Given the description of an element on the screen output the (x, y) to click on. 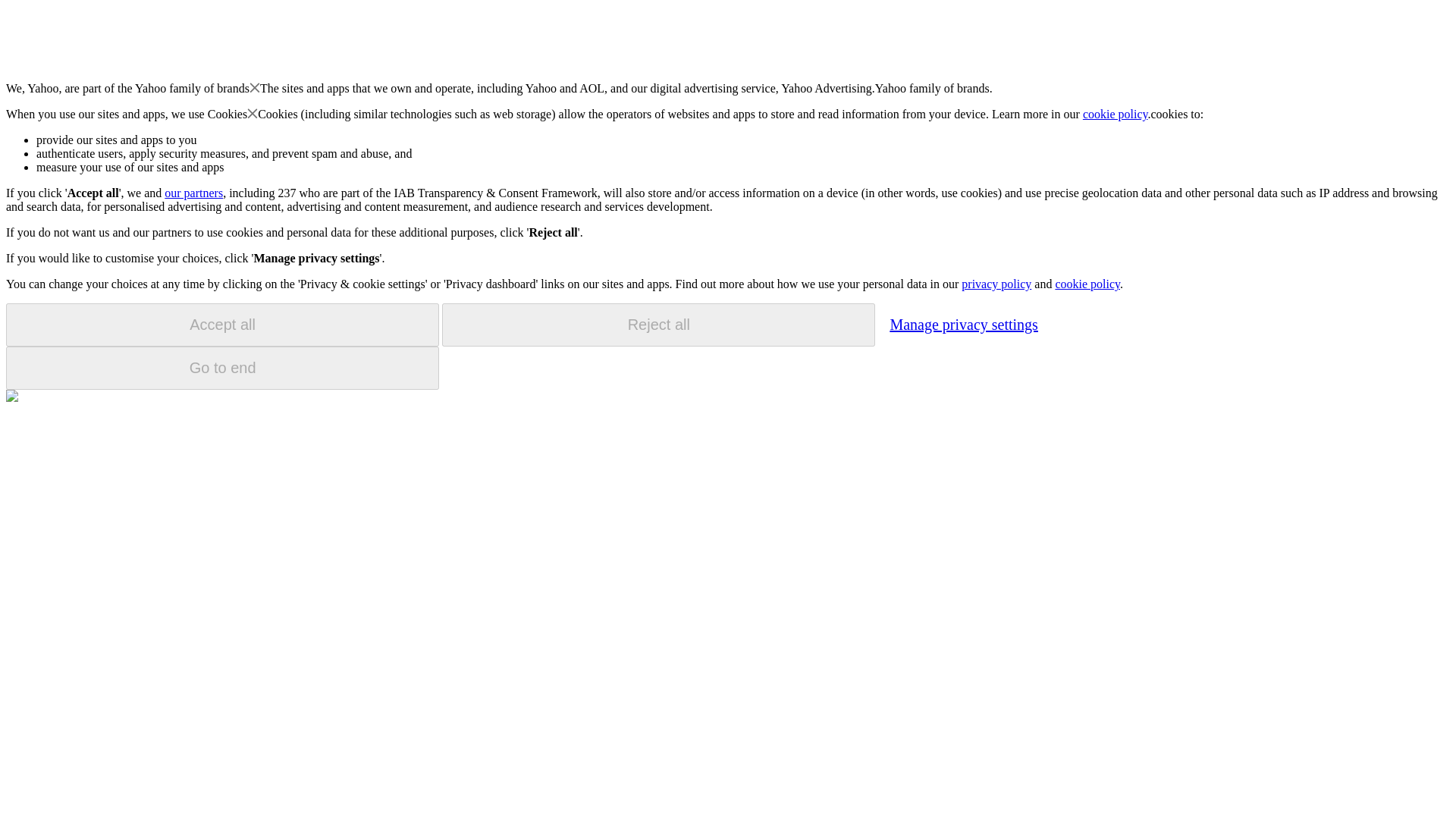
cookie policy (1115, 113)
Manage privacy settings (963, 323)
Reject all (658, 324)
Go to end (222, 367)
Accept all (222, 324)
privacy policy (995, 283)
cookie policy (1086, 283)
our partners (193, 192)
